Given the description of an element on the screen output the (x, y) to click on. 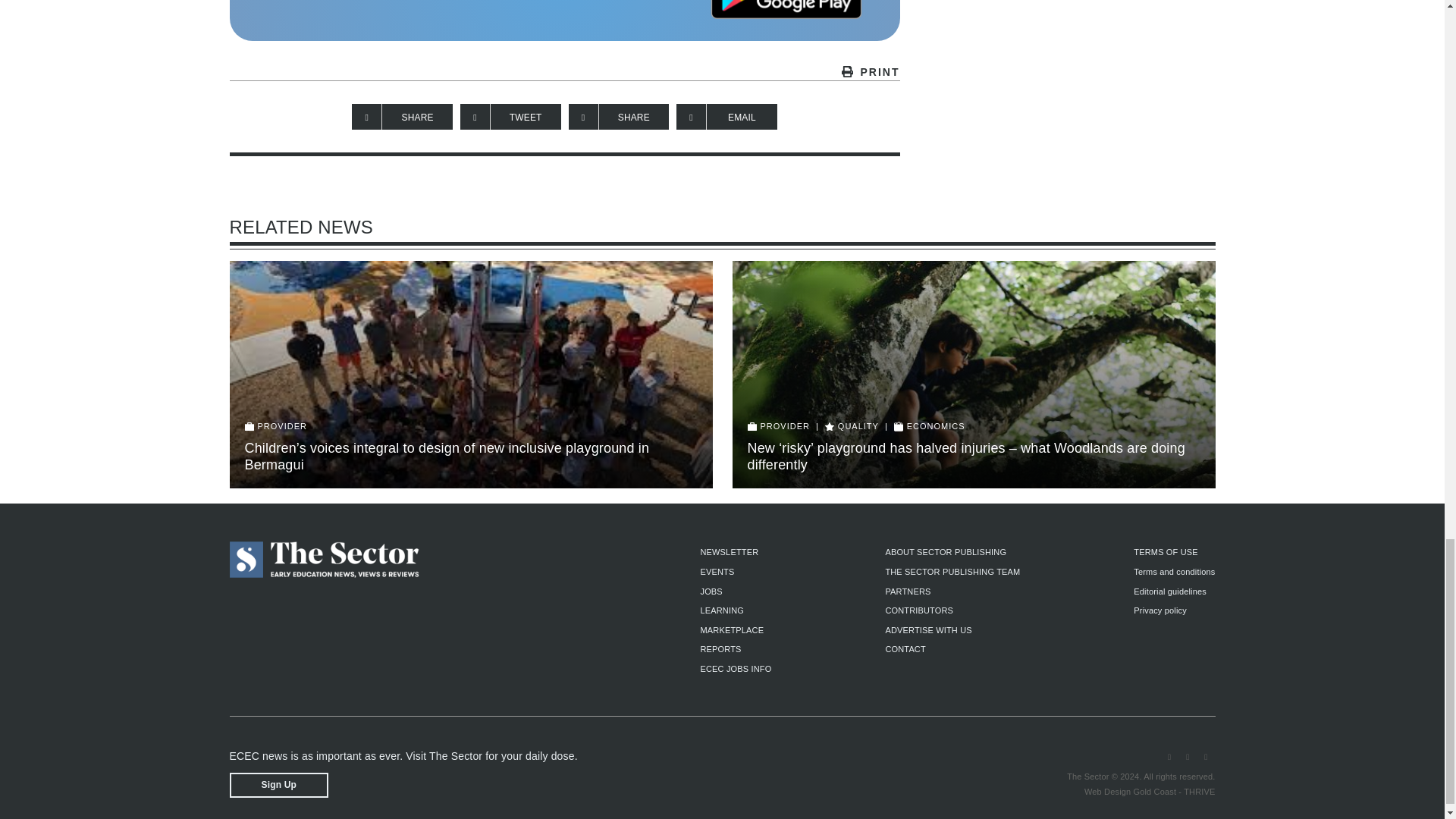
Share on Email (727, 116)
Tweet (510, 116)
Web Design Gold Coast (1130, 791)
Share on LinkedIn (619, 116)
Share on Facebook (402, 116)
